Given the description of an element on the screen output the (x, y) to click on. 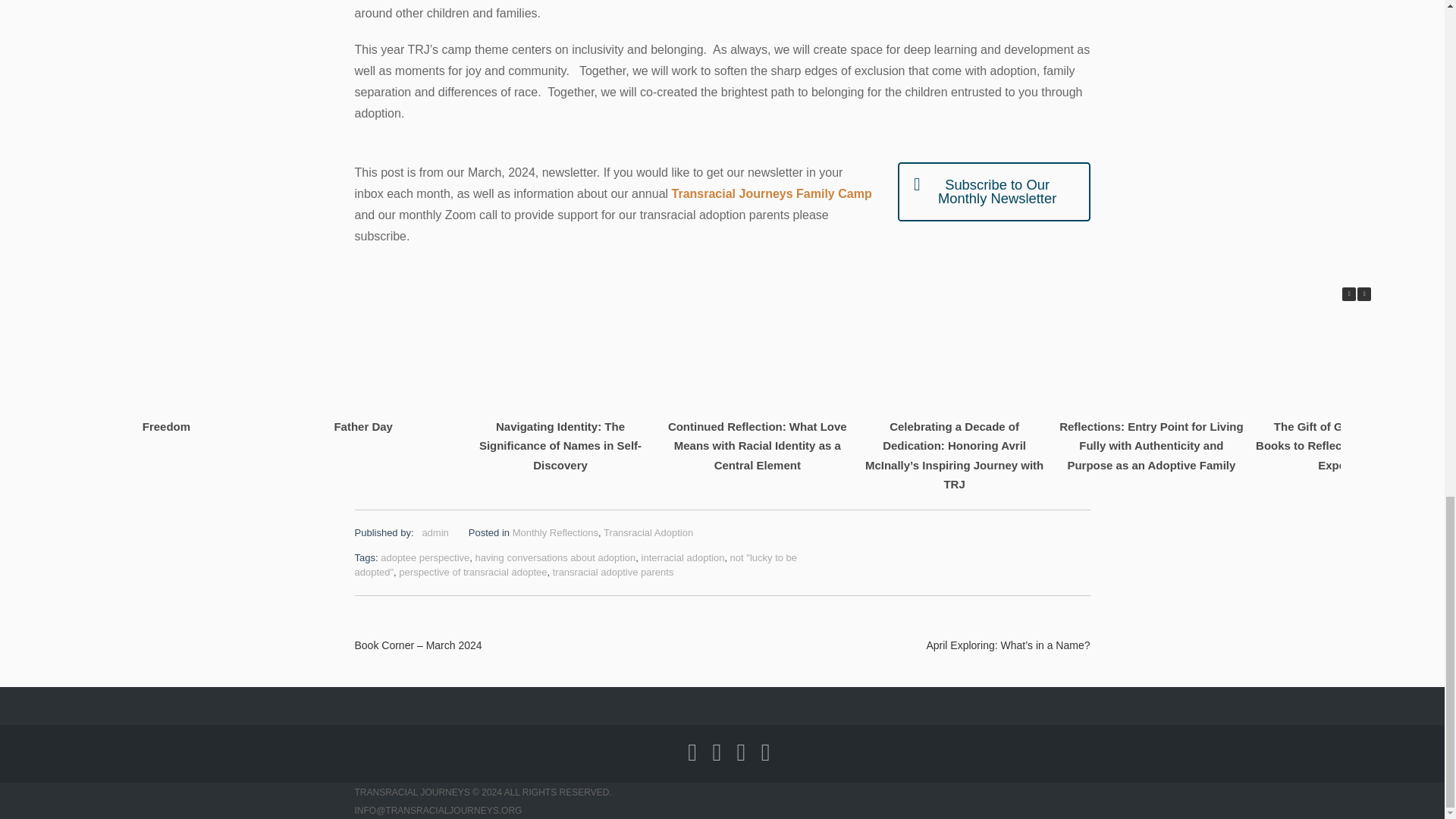
Subscribe to Our Monthly Newsletter (993, 191)
Posts by admin (435, 532)
Freedom (165, 426)
Transracial Journeys Family Camp (771, 193)
Next (1363, 294)
Father Day (363, 426)
Previous (1348, 294)
